Given the description of an element on the screen output the (x, y) to click on. 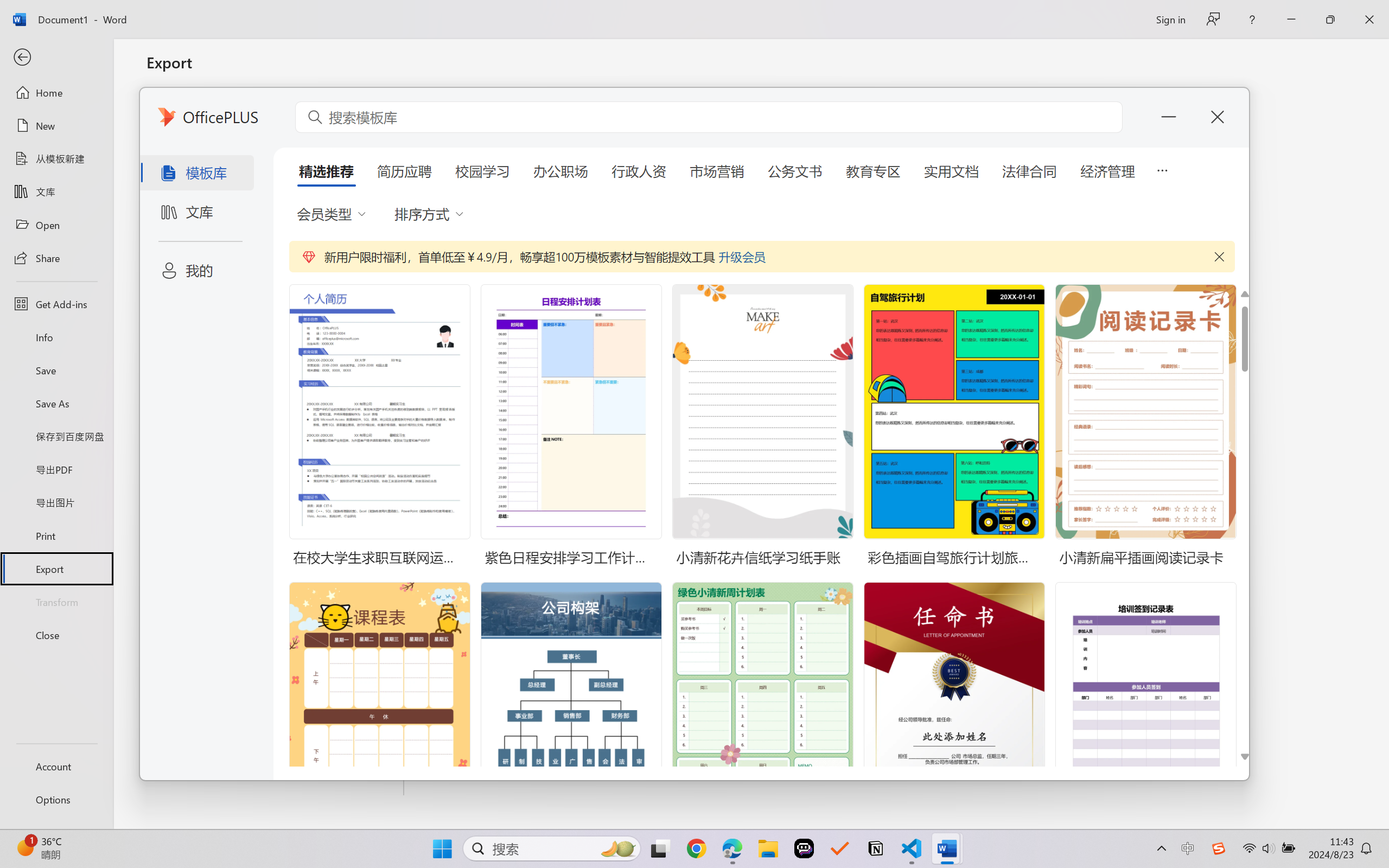
Account (56, 765)
Create PDF/XPS (464, 216)
Sign in (1170, 18)
5 more tabs (1161, 169)
